Given the description of an element on the screen output the (x, y) to click on. 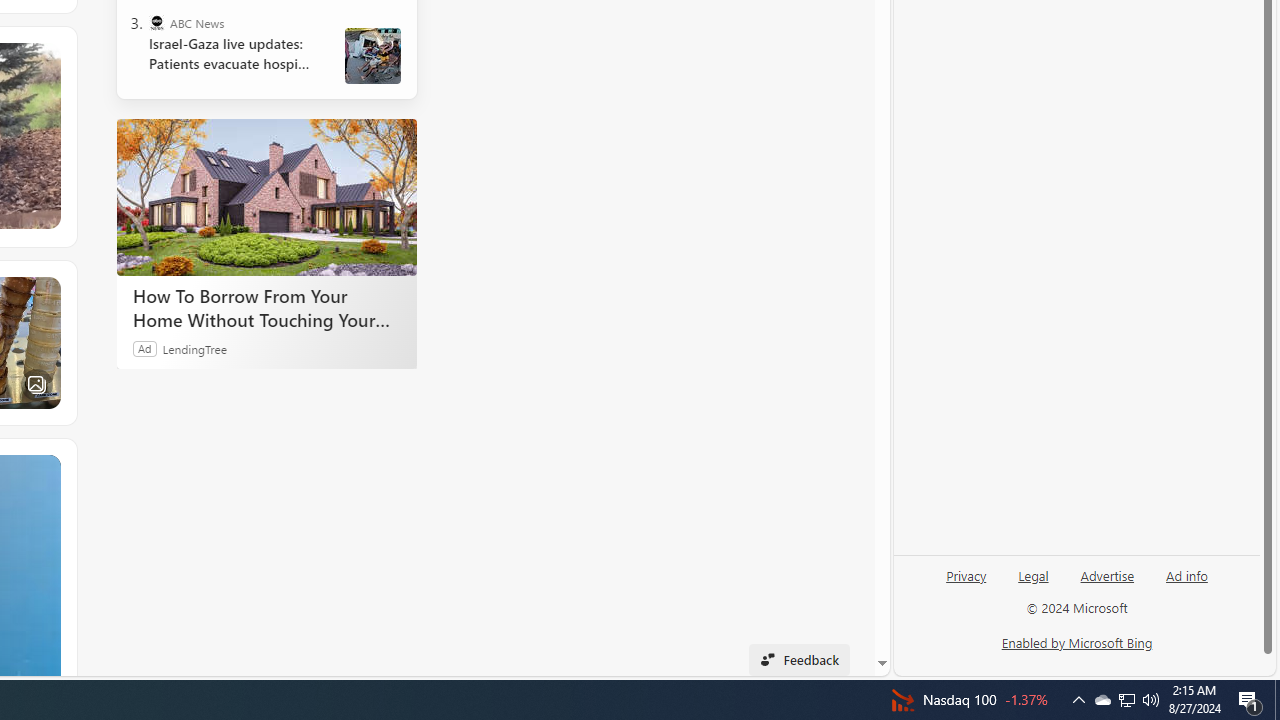
LendingTree (194, 348)
ABC News (156, 22)
